Given the description of an element on the screen output the (x, y) to click on. 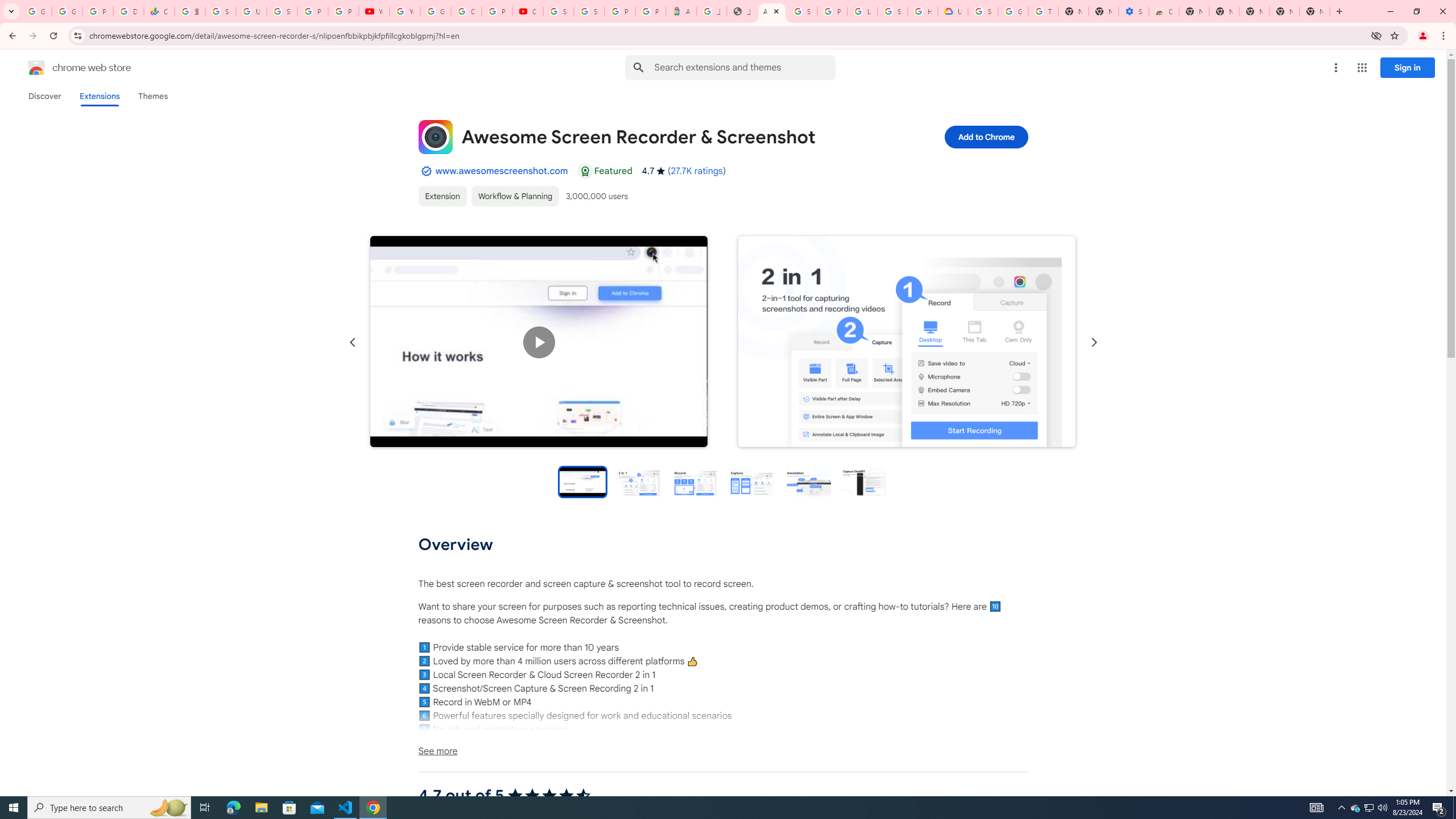
Sign in - Google Accounts (558, 11)
Sign in - Google Accounts (801, 11)
New Tab (1193, 11)
Preview slide 5 (807, 481)
Preview slide 3 (694, 481)
Google Account Help (1012, 11)
www.awesomescreenshot.com (501, 170)
Awesome Screen Recorder & Screenshot - Chrome Web Store (771, 11)
